Given the description of an element on the screen output the (x, y) to click on. 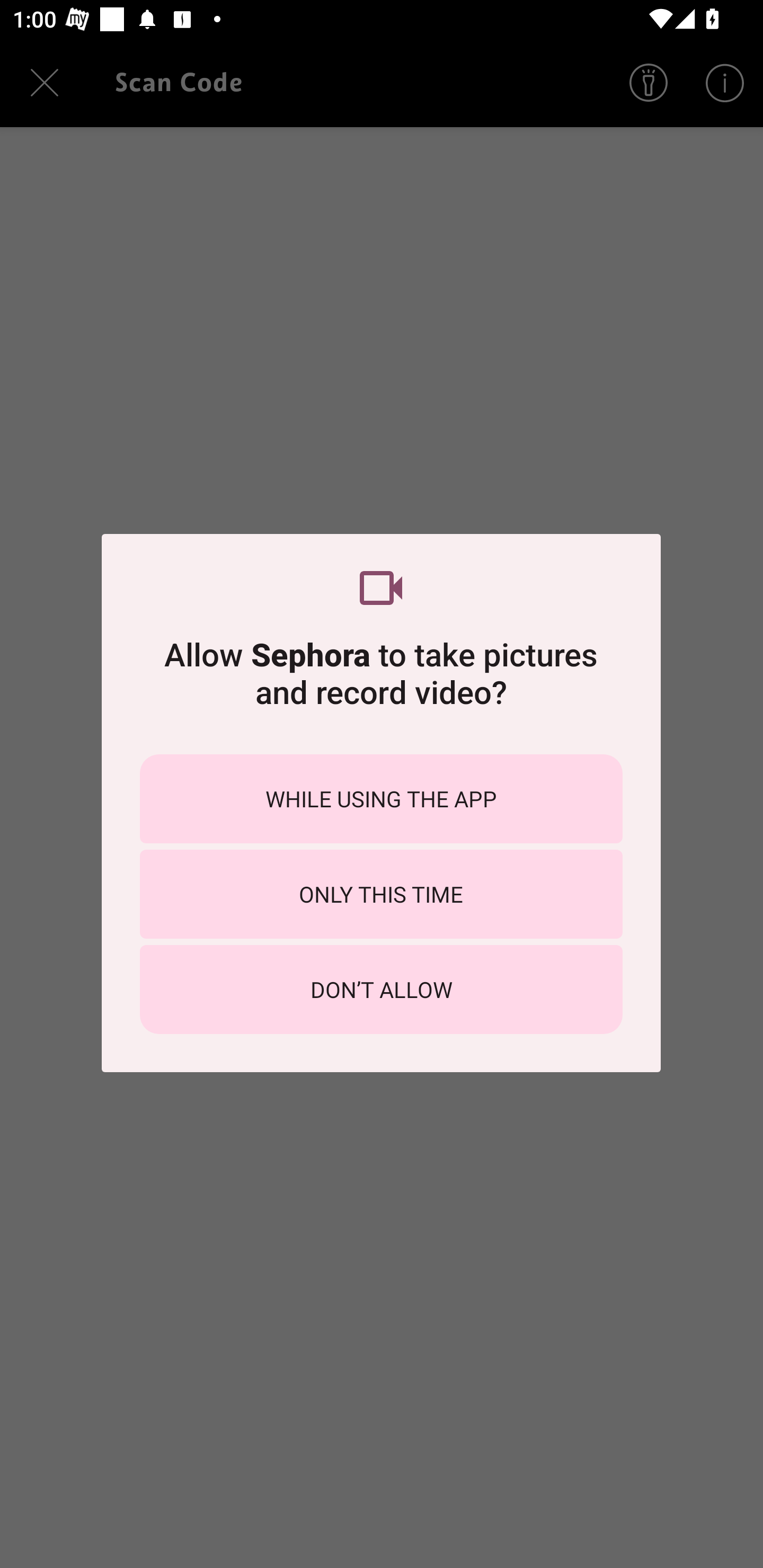
WHILE USING THE APP (380, 798)
ONLY THIS TIME (380, 894)
DON’T ALLOW (380, 989)
